Given the description of an element on the screen output the (x, y) to click on. 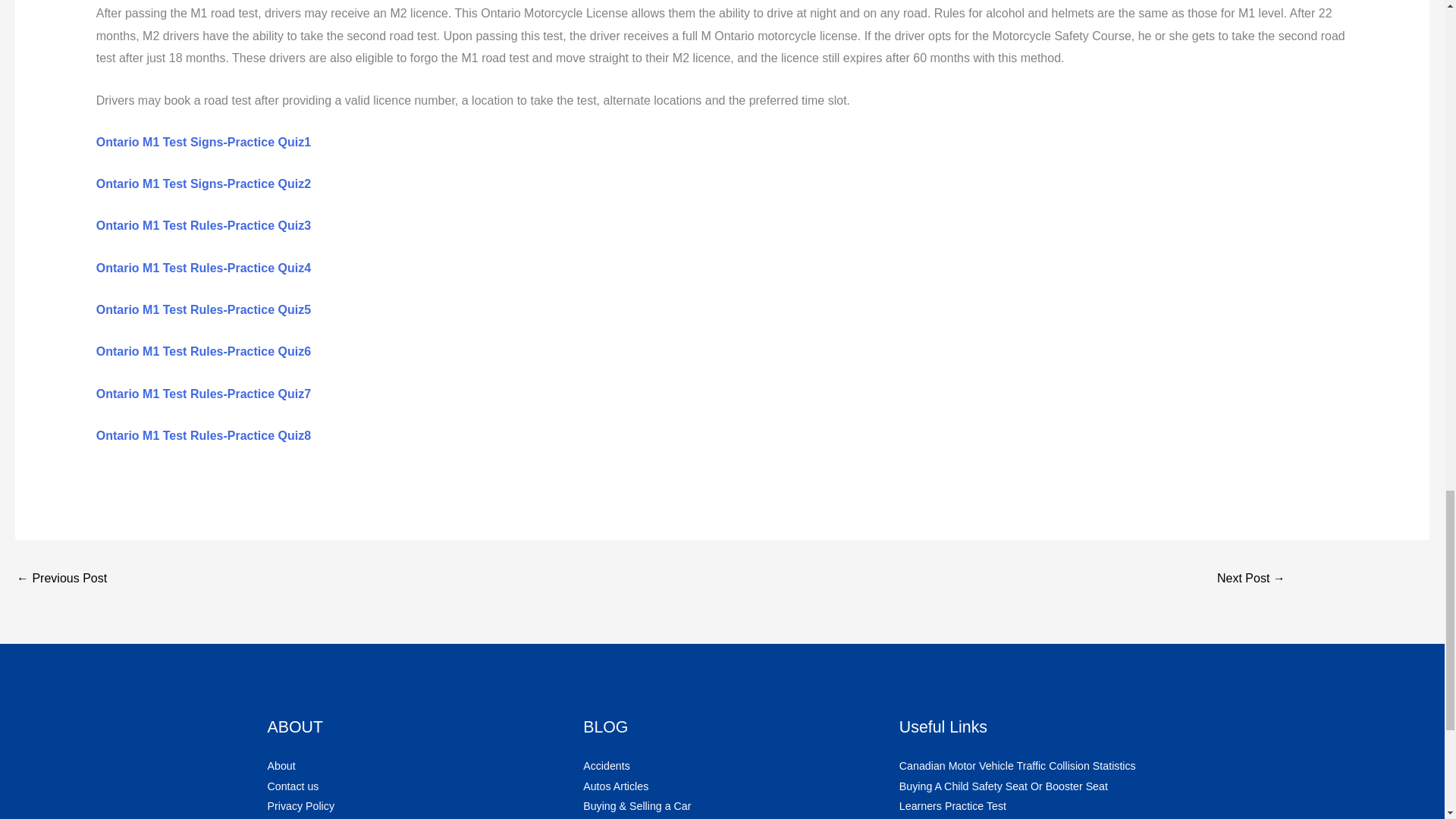
Ontario M1 Test Rules-Practice Quiz6 (203, 350)
Ontario M1 Test Rules6 (203, 350)
Ontario M1 Test Signs2 (203, 183)
Ontario M1 Test Rules-Practice Quiz4 (203, 267)
Ontario M1 Test Rules-Practice Quiz8 (203, 435)
Ontario M1 Test Rules5 (203, 309)
Ontario M1 Test Rules-Practice Quiz7 (203, 393)
Ontario M1 Test Signs1 (203, 141)
Ontario M1 Test Signs-Practice Quiz1 (203, 141)
Ontario M1 Test Signs-Practice Quiz2 (203, 183)
Ontario M1 Test Rules-Practice Quiz5 (203, 309)
Ontario M1 Test Rules4 (203, 267)
Ontario M1 Test Rules-Practice Quiz3 (203, 225)
Ontario M1 Test Rules3 (203, 225)
